Given the description of an element on the screen output the (x, y) to click on. 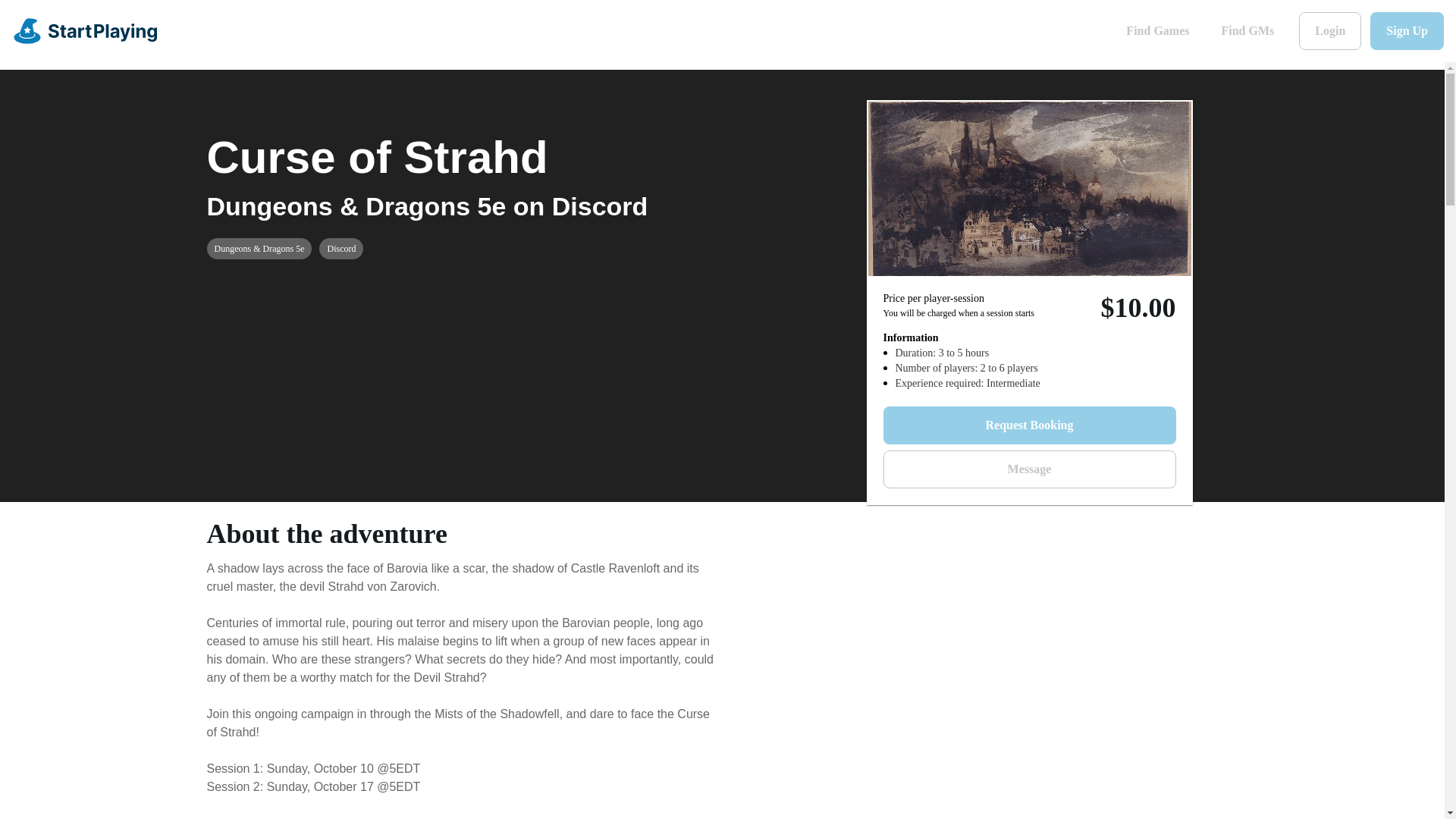
Sign Up (1407, 30)
Find GMs (1247, 30)
Find Games (1157, 30)
Message (1028, 469)
Login (1329, 30)
Request Booking (1028, 425)
